Given the description of an element on the screen output the (x, y) to click on. 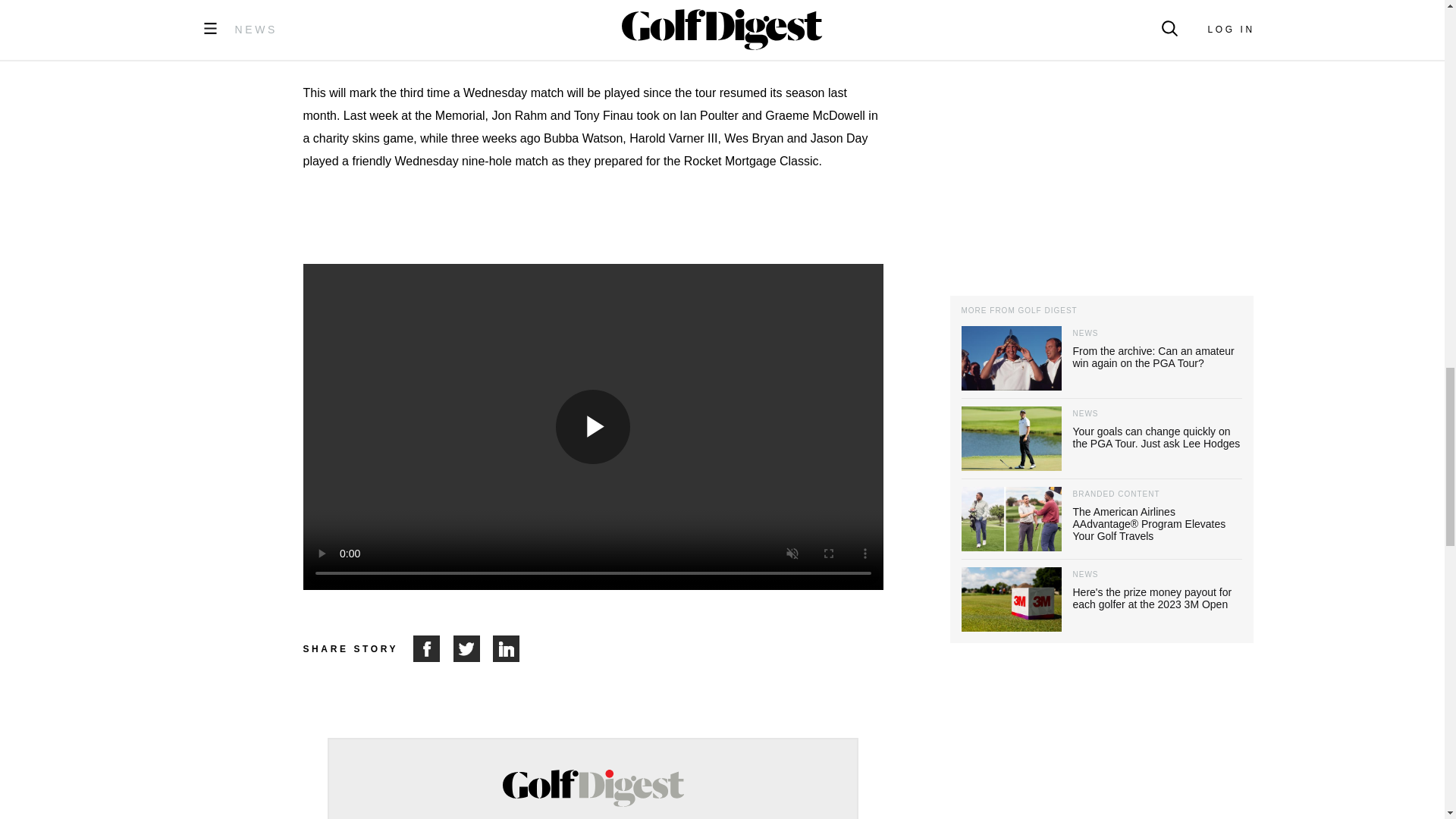
Play Video (593, 426)
